Given the description of an element on the screen output the (x, y) to click on. 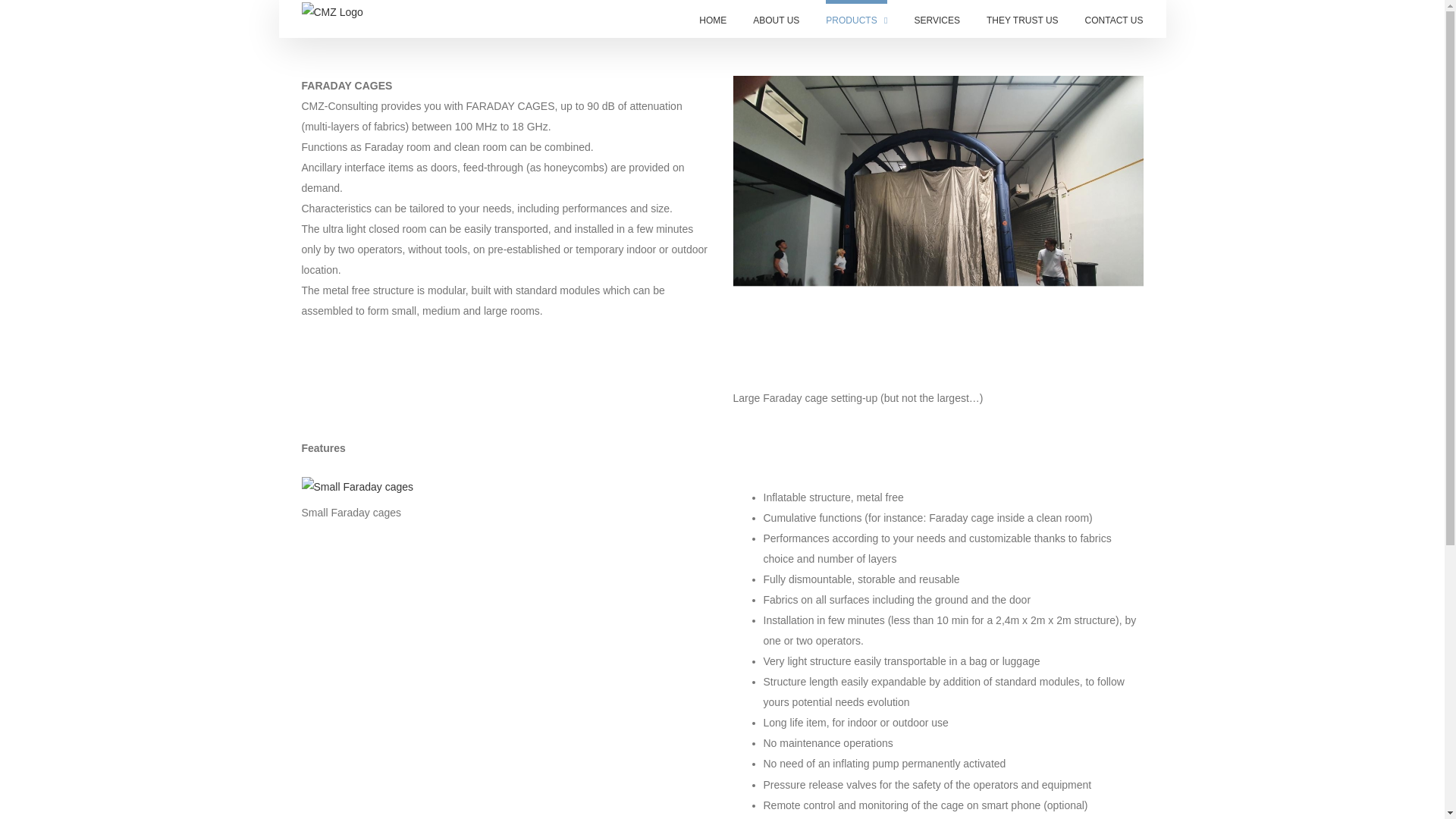
ABOUT US (775, 18)
THEY TRUST US (1022, 18)
CONTACT US (1113, 18)
SERVICES (936, 18)
PRODUCTS (855, 18)
